Given the description of an element on the screen output the (x, y) to click on. 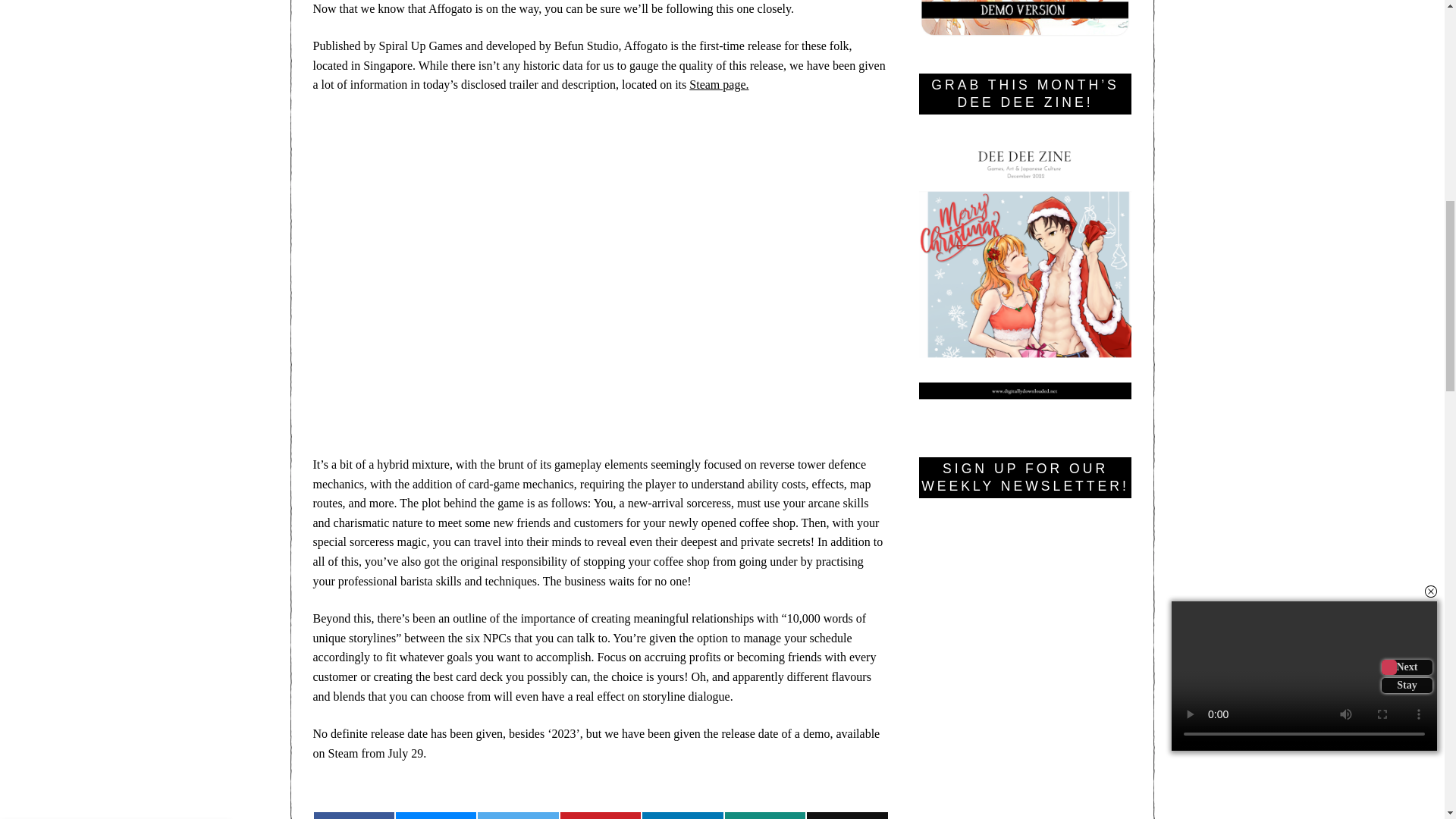
PINTEREST (600, 815)
LINKEDIN (682, 815)
TWITTER (1396, 20)
WHATSAPP (517, 815)
EMAIL (765, 815)
Steam page. (846, 815)
MESSENGER (718, 83)
FACEBOOK (436, 815)
